Given the description of an element on the screen output the (x, y) to click on. 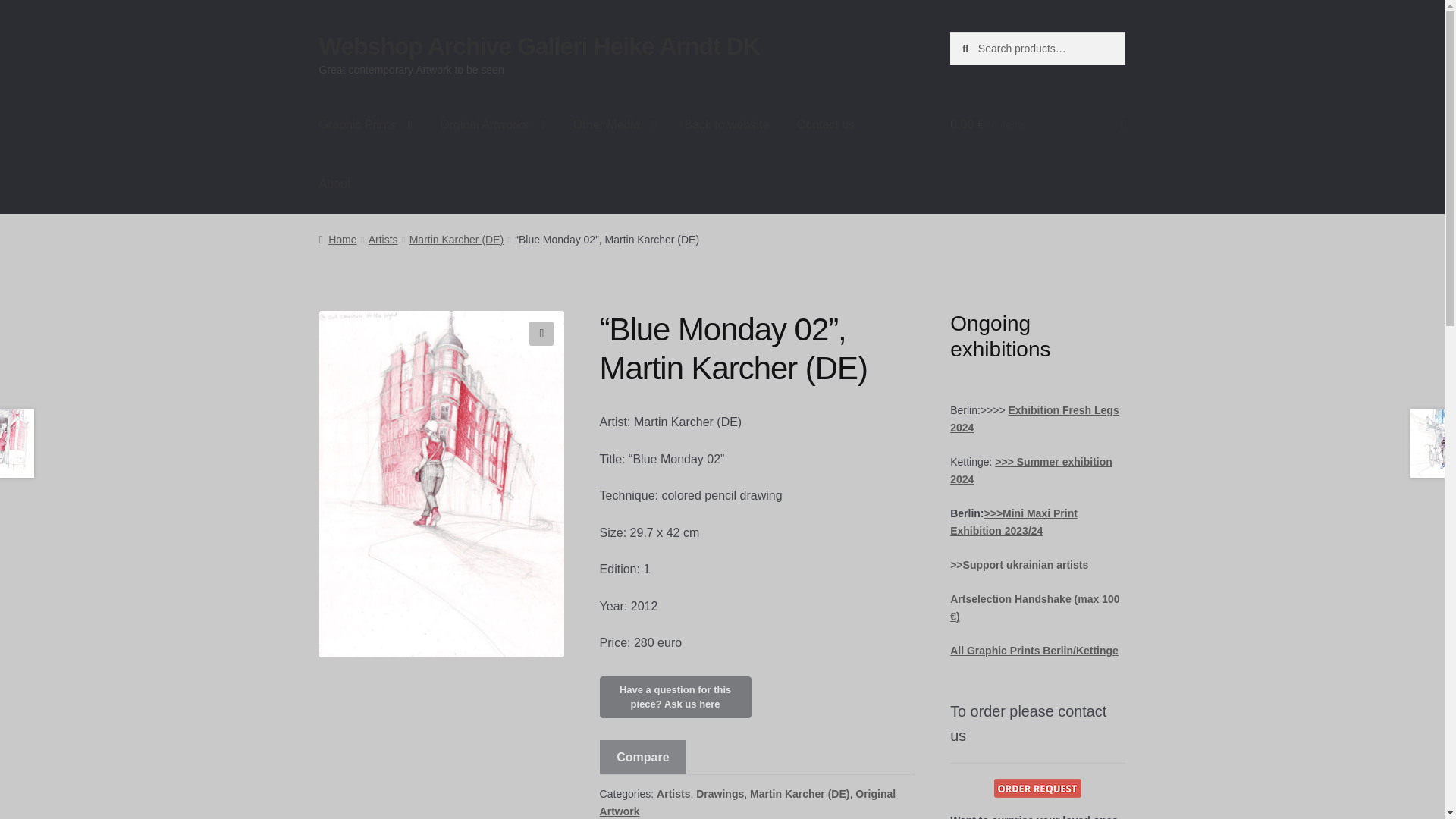
Orginal Artworks (492, 124)
Contact us (825, 124)
View your shopping cart (1037, 124)
Other Media (614, 124)
About (334, 183)
Graphic Prints (366, 124)
Webshop Archive Galleri Heike Arndt DK (539, 45)
Have a question for this piece? Ask us here (675, 697)
Back to website (725, 124)
